Given the description of an element on the screen output the (x, y) to click on. 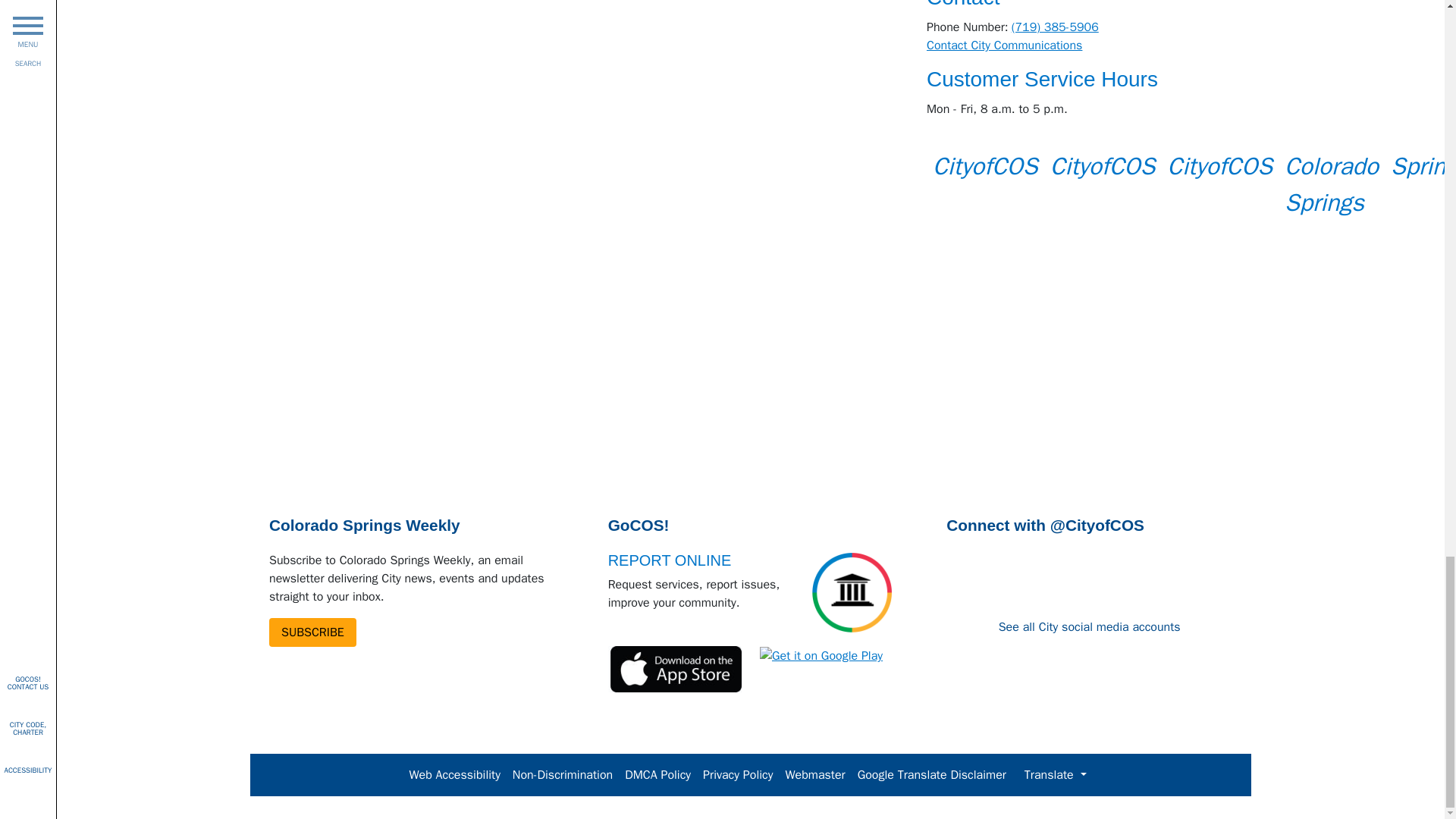
Social Media Facebook (985, 165)
Social Media Vimeo (1331, 184)
Social Media Instagram (1102, 165)
Contact City Communications (1003, 45)
Social Media Twitter (1219, 165)
